Given the description of an element on the screen output the (x, y) to click on. 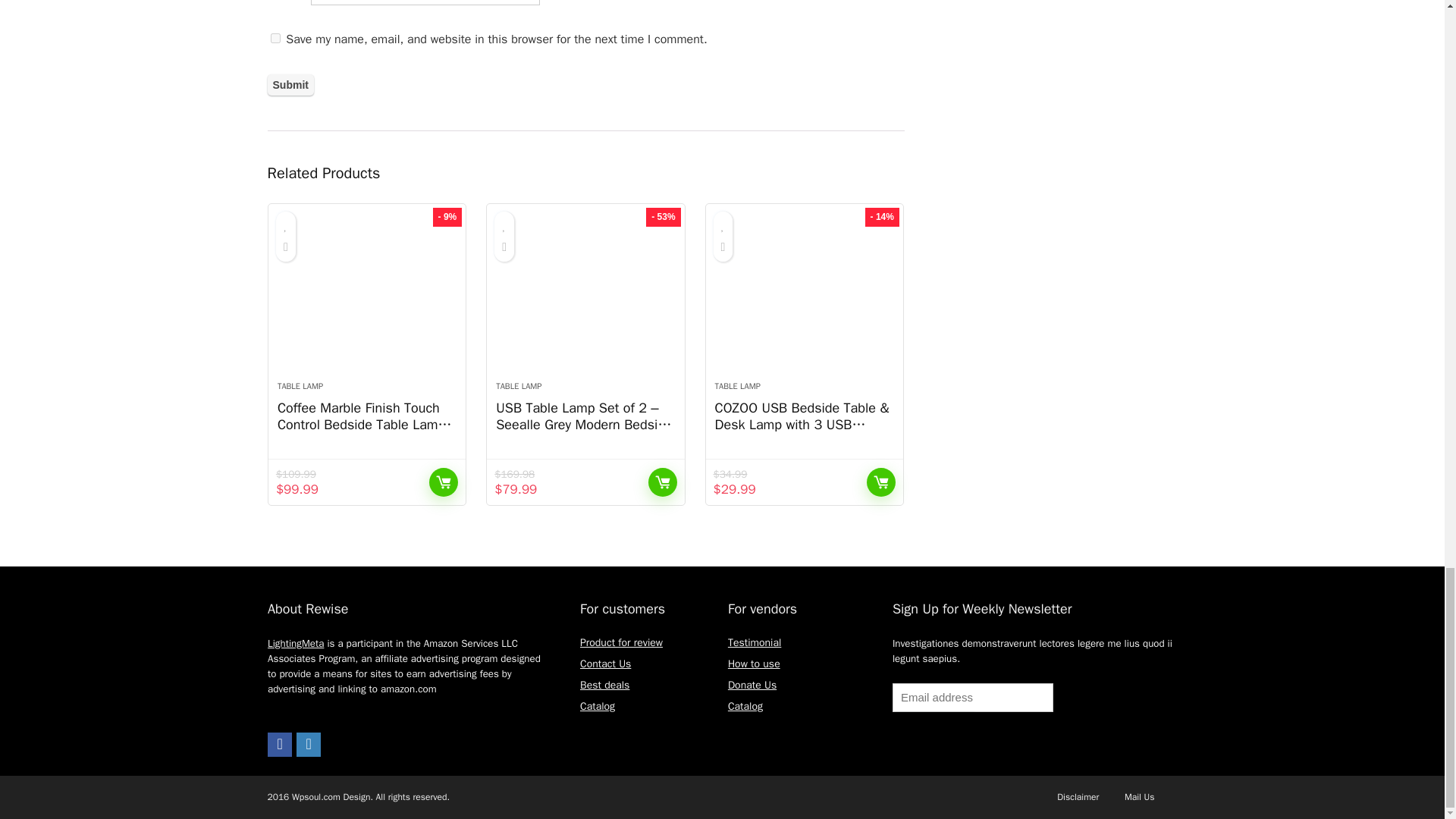
Submit (289, 84)
yes (274, 38)
